Given the description of an element on the screen output the (x, y) to click on. 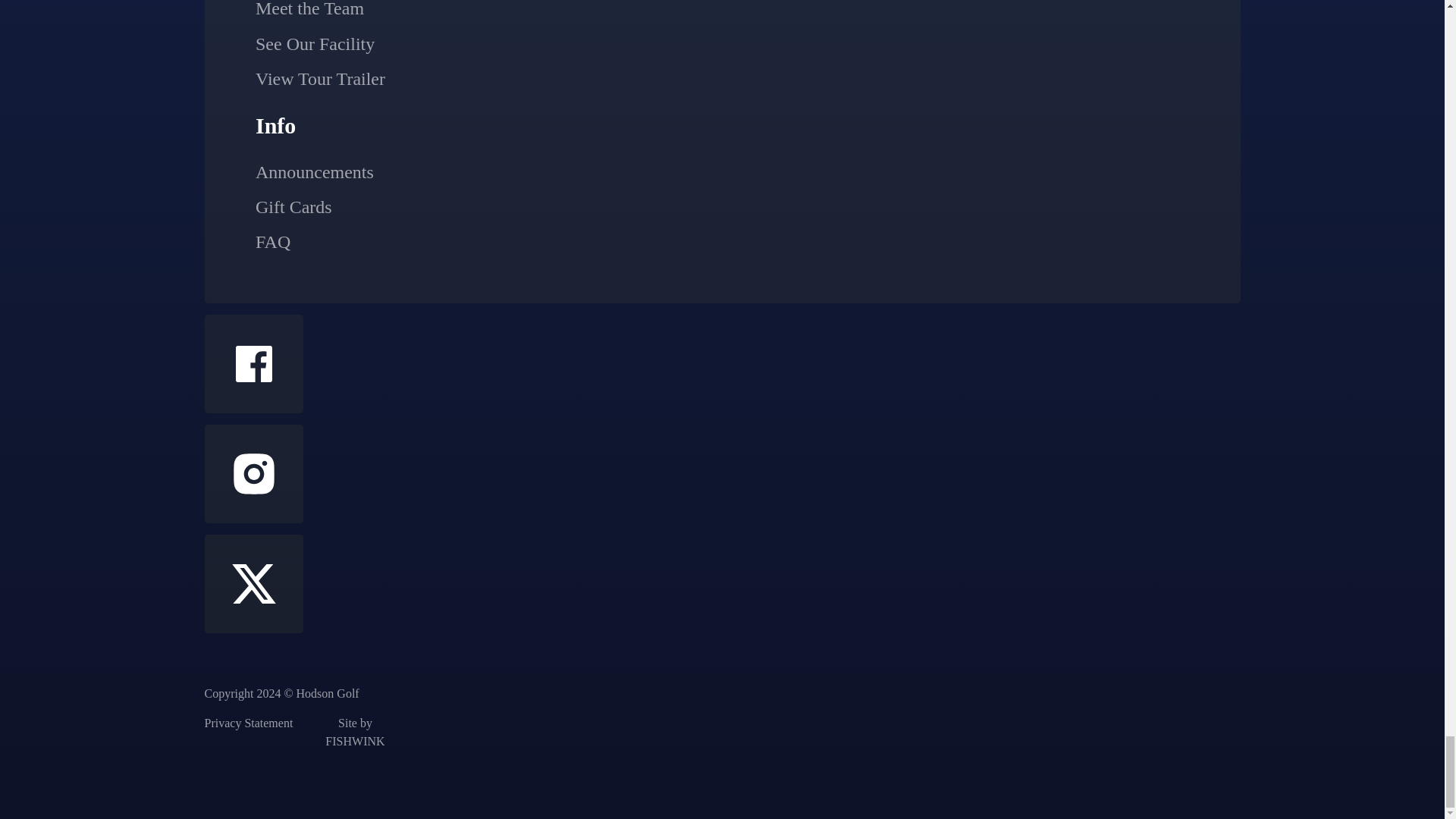
FISHWINK (354, 732)
X (253, 583)
Instagram (253, 474)
Facebook (253, 363)
